Given the description of an element on the screen output the (x, y) to click on. 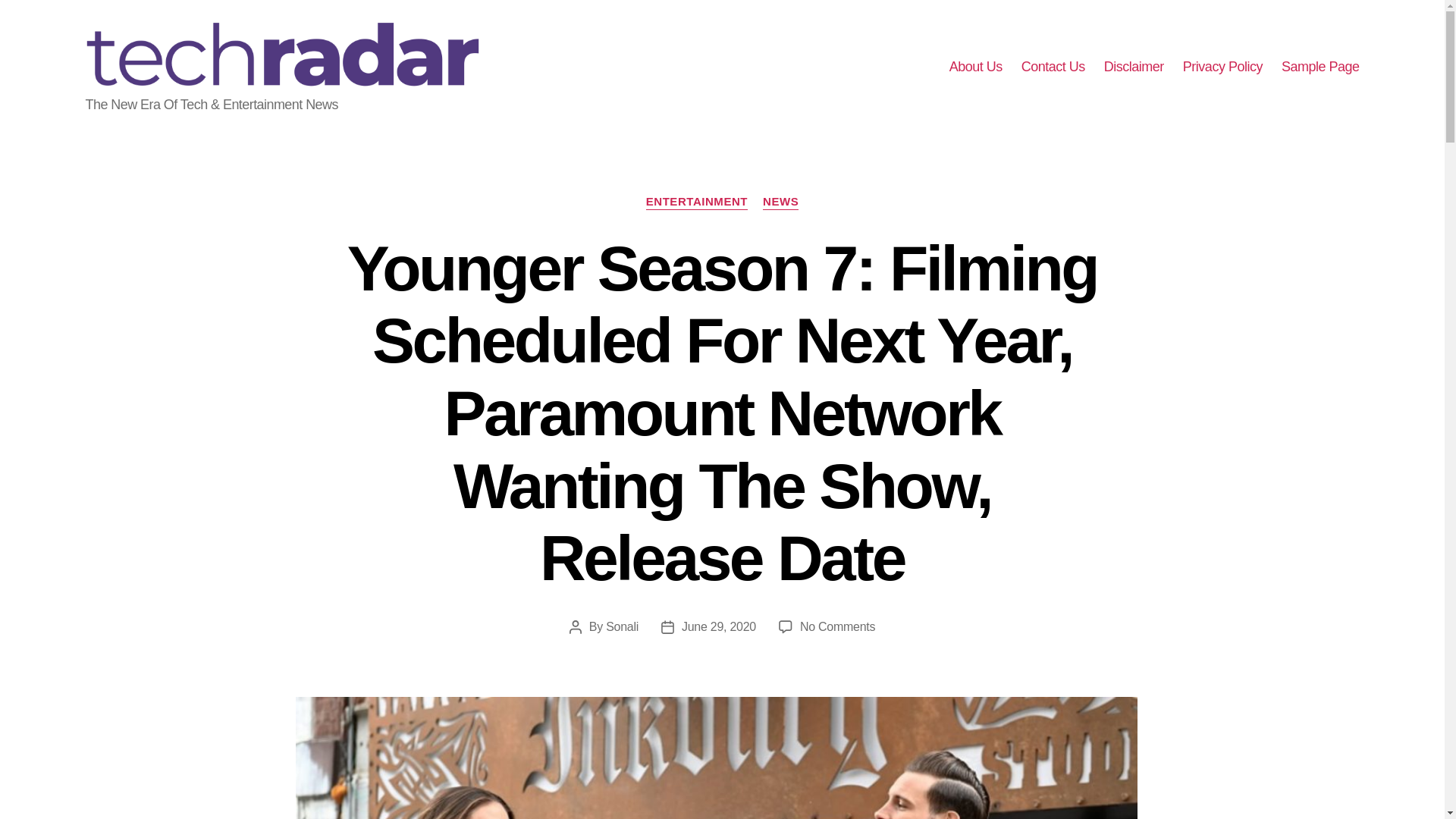
NEWS (779, 201)
About Us (976, 67)
ENTERTAINMENT (697, 201)
Privacy Policy (1222, 67)
Sample Page (1320, 67)
Disclaimer (1133, 67)
Contact Us (1053, 67)
June 29, 2020 (718, 626)
Sonali (622, 626)
